Given the description of an element on the screen output the (x, y) to click on. 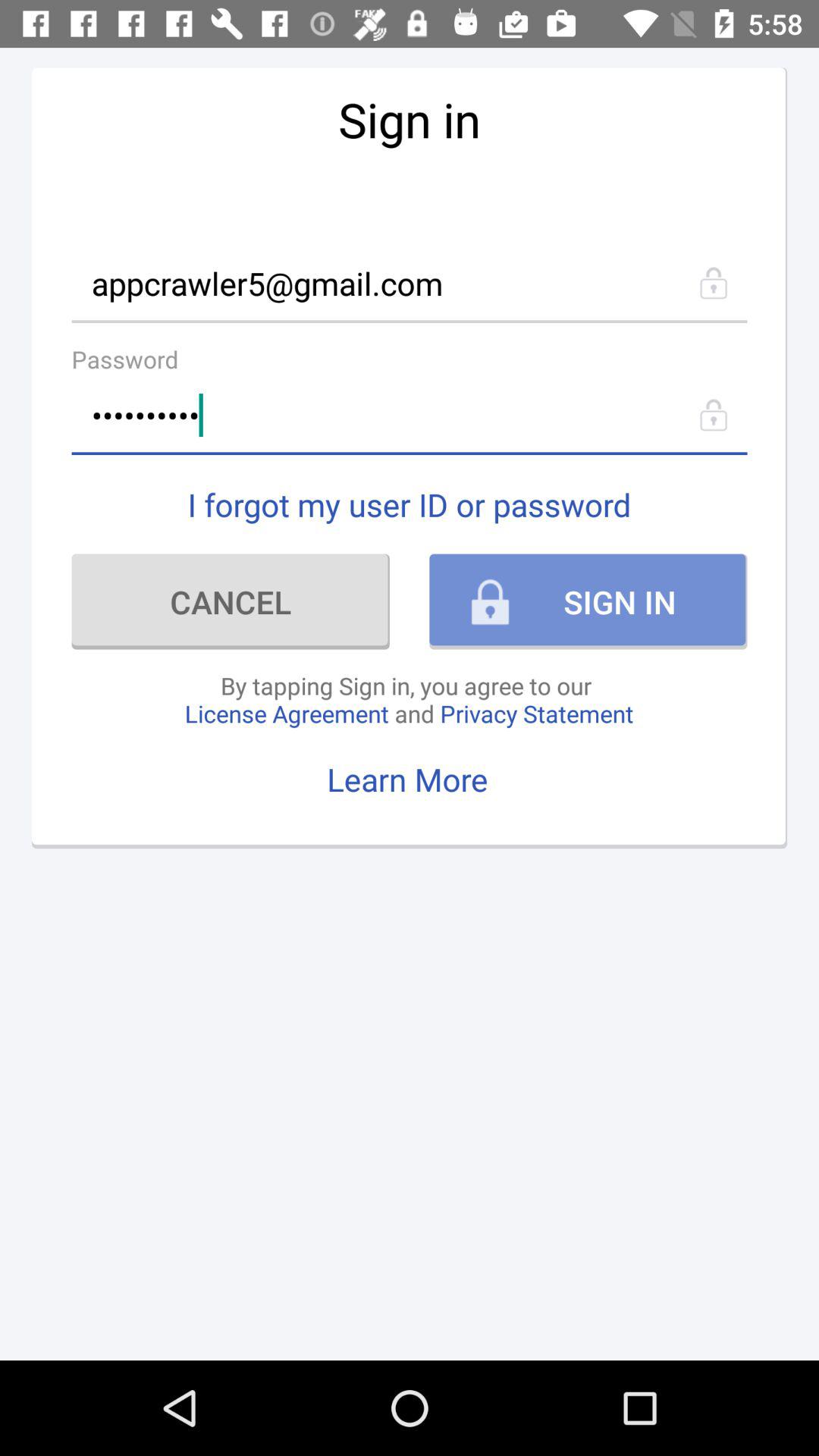
open the item below password item (409, 415)
